Given the description of an element on the screen output the (x, y) to click on. 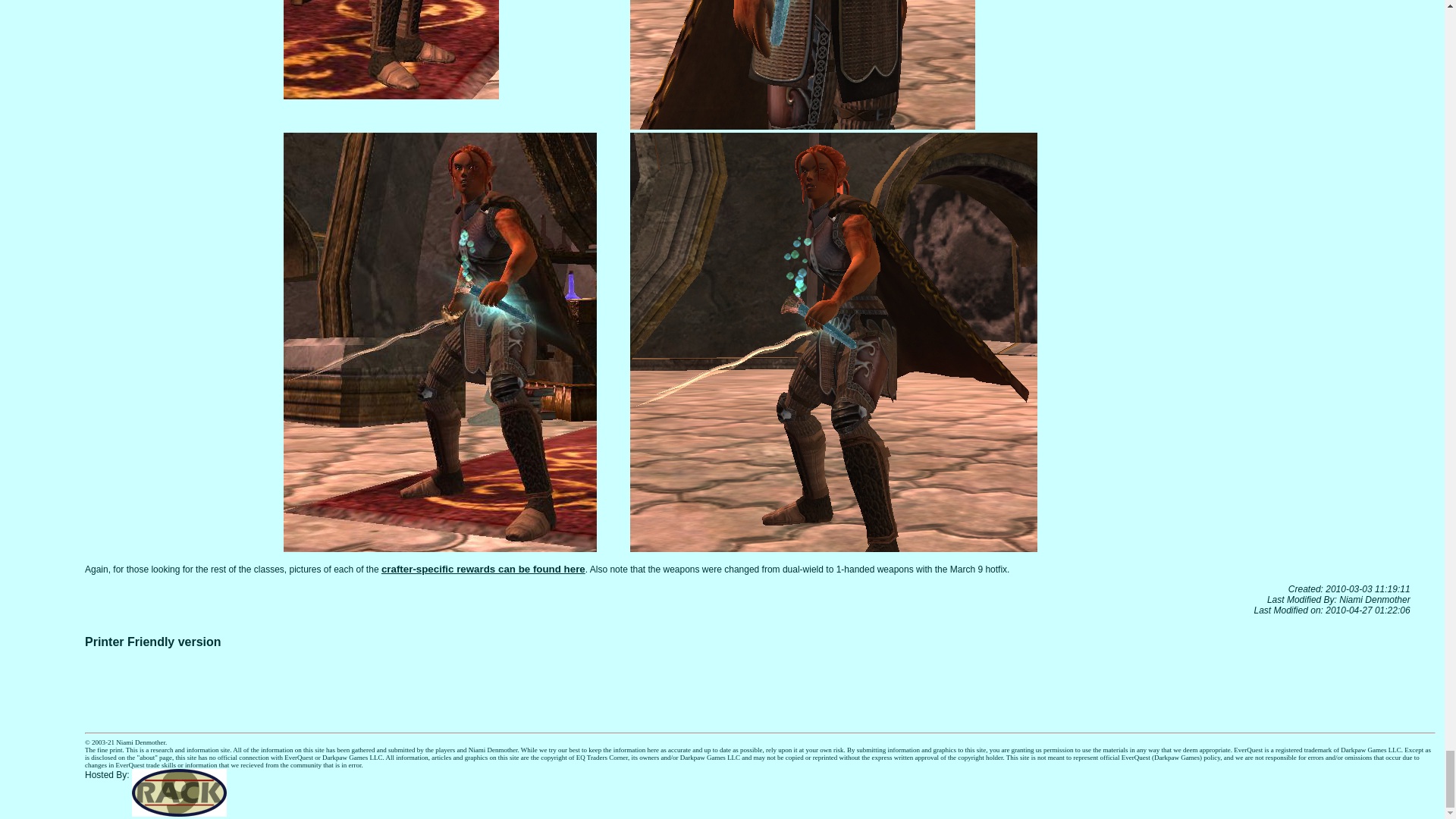
crafter-specific rewards can be found here (483, 568)
Printer Friendly version (152, 641)
